Given the description of an element on the screen output the (x, y) to click on. 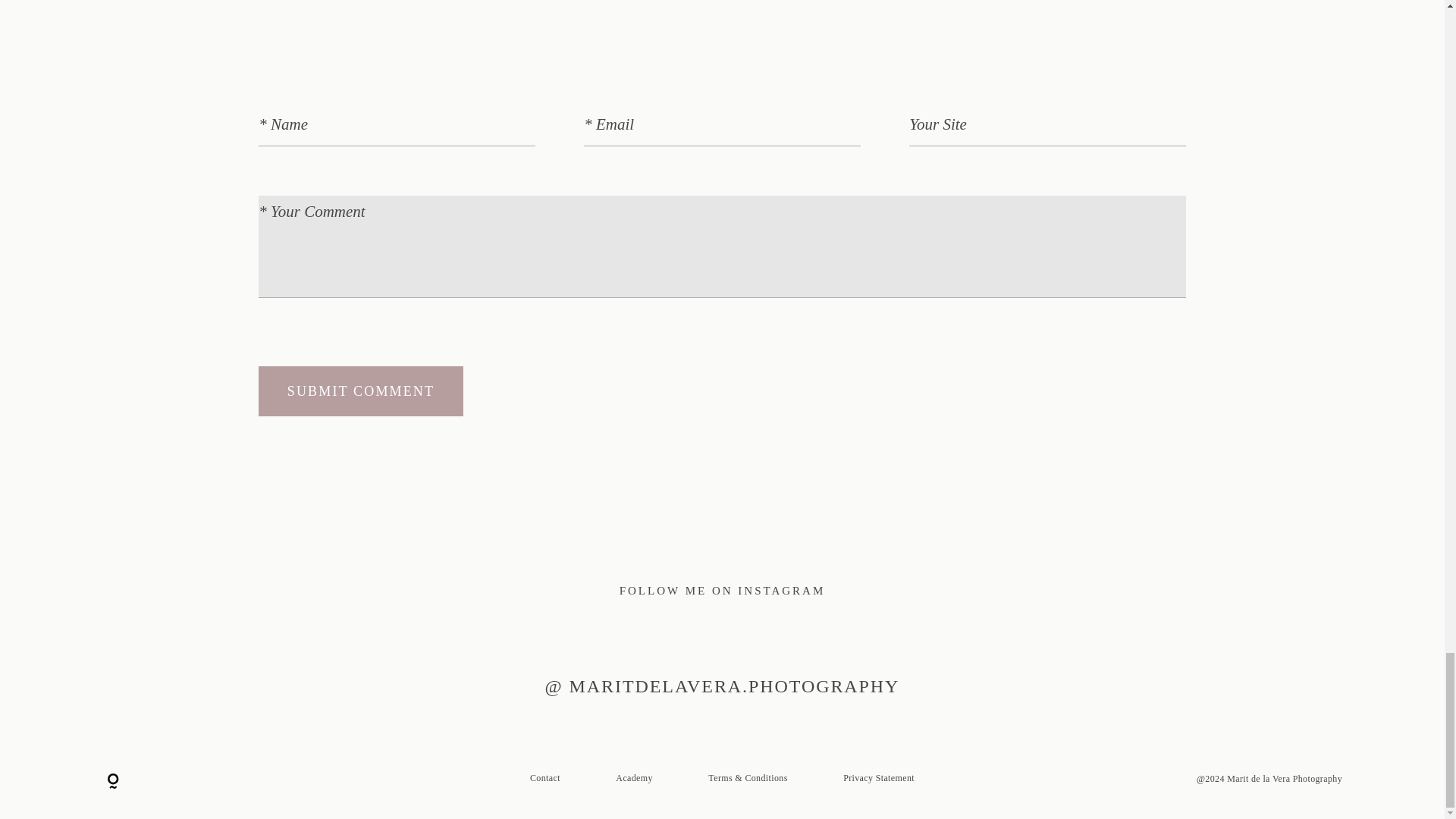
SUBMIT COMMENT (361, 391)
Sorry, your browser does not support inline SVG. (112, 781)
